Given the description of an element on the screen output the (x, y) to click on. 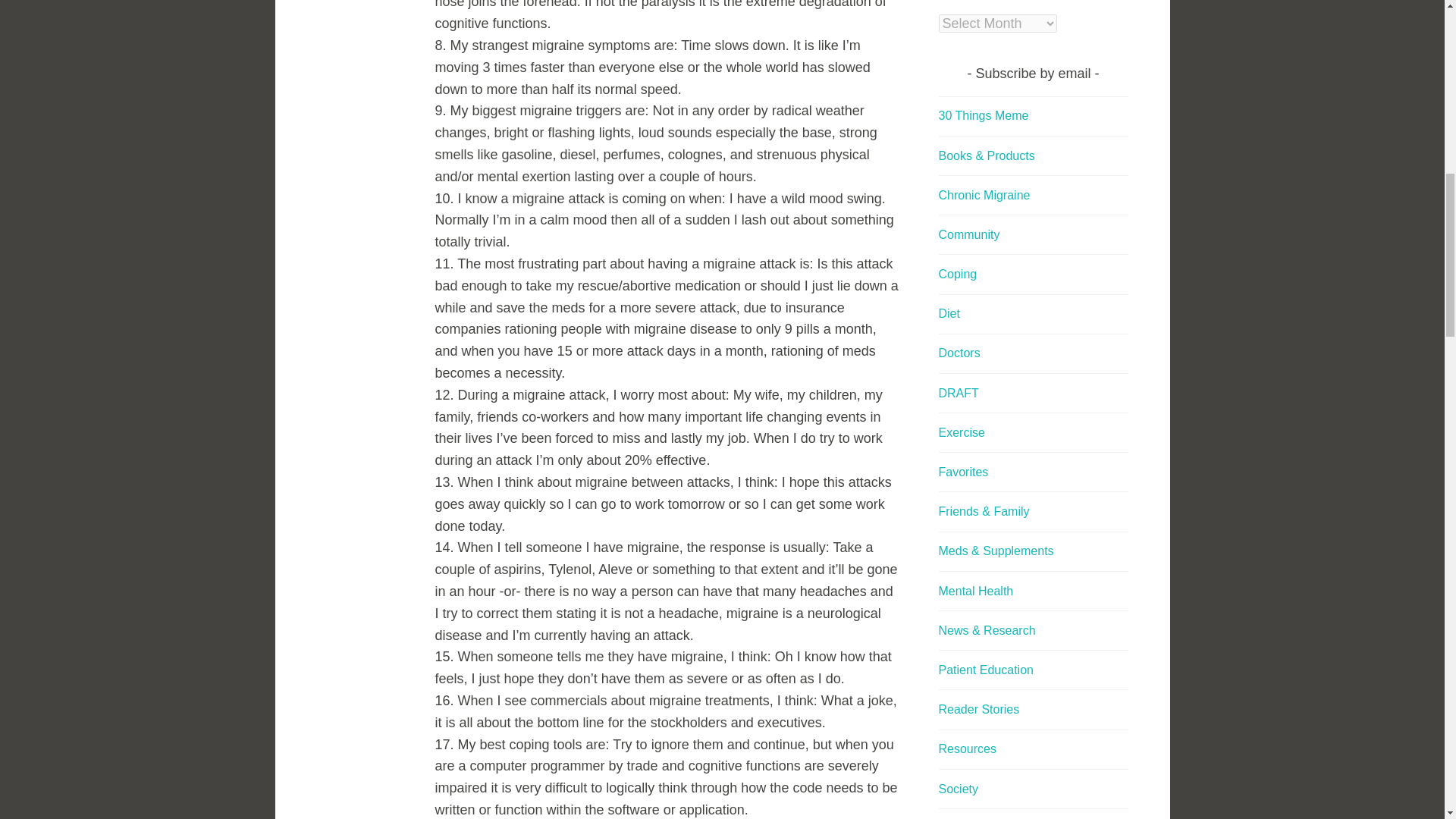
Resources (967, 748)
Diet (949, 313)
30 Things Meme (984, 115)
DRAFT (958, 392)
Favorites (963, 472)
Reader Stories (979, 708)
Chronic Migraine (984, 195)
Mental Health (976, 590)
Patient Education (986, 669)
Exercise (962, 431)
